Given the description of an element on the screen output the (x, y) to click on. 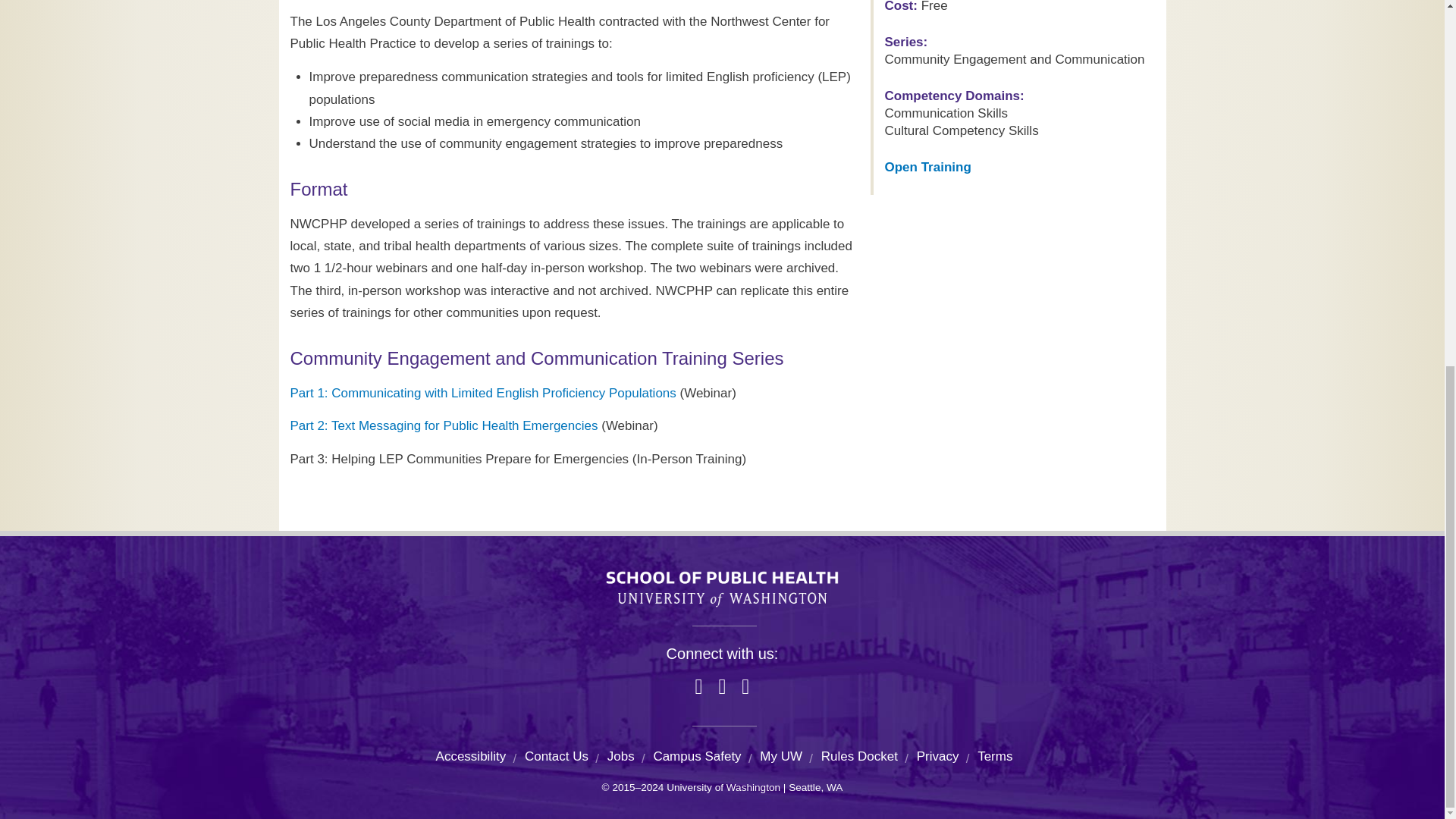
Facebook (697, 686)
LinkedIn (721, 686)
Subscribe to the NWCPHP email list (745, 686)
